Given the description of an element on the screen output the (x, y) to click on. 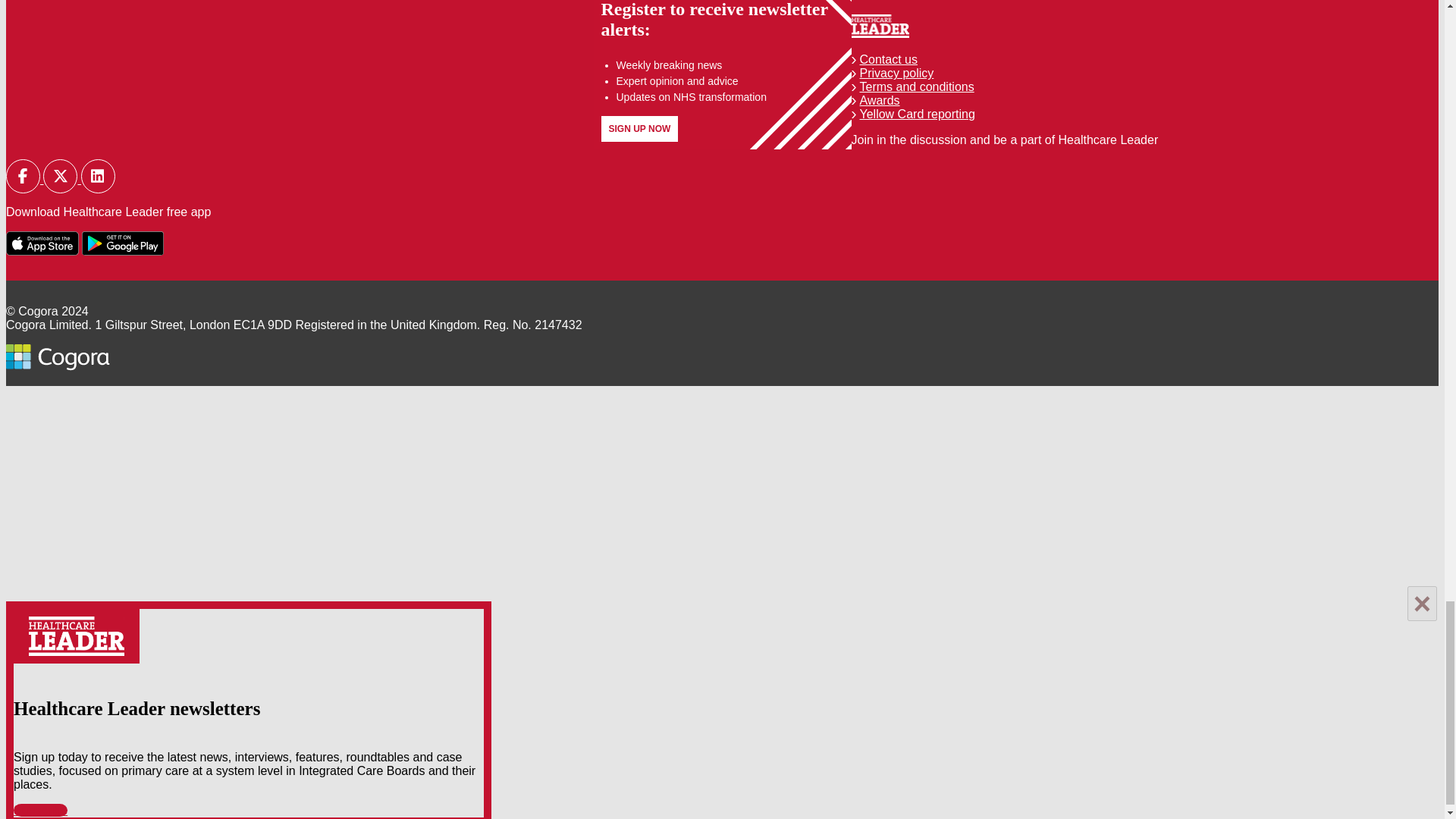
Download our app from Google Play (122, 242)
Download our app from the Apple App Store (41, 242)
